Given the description of an element on the screen output the (x, y) to click on. 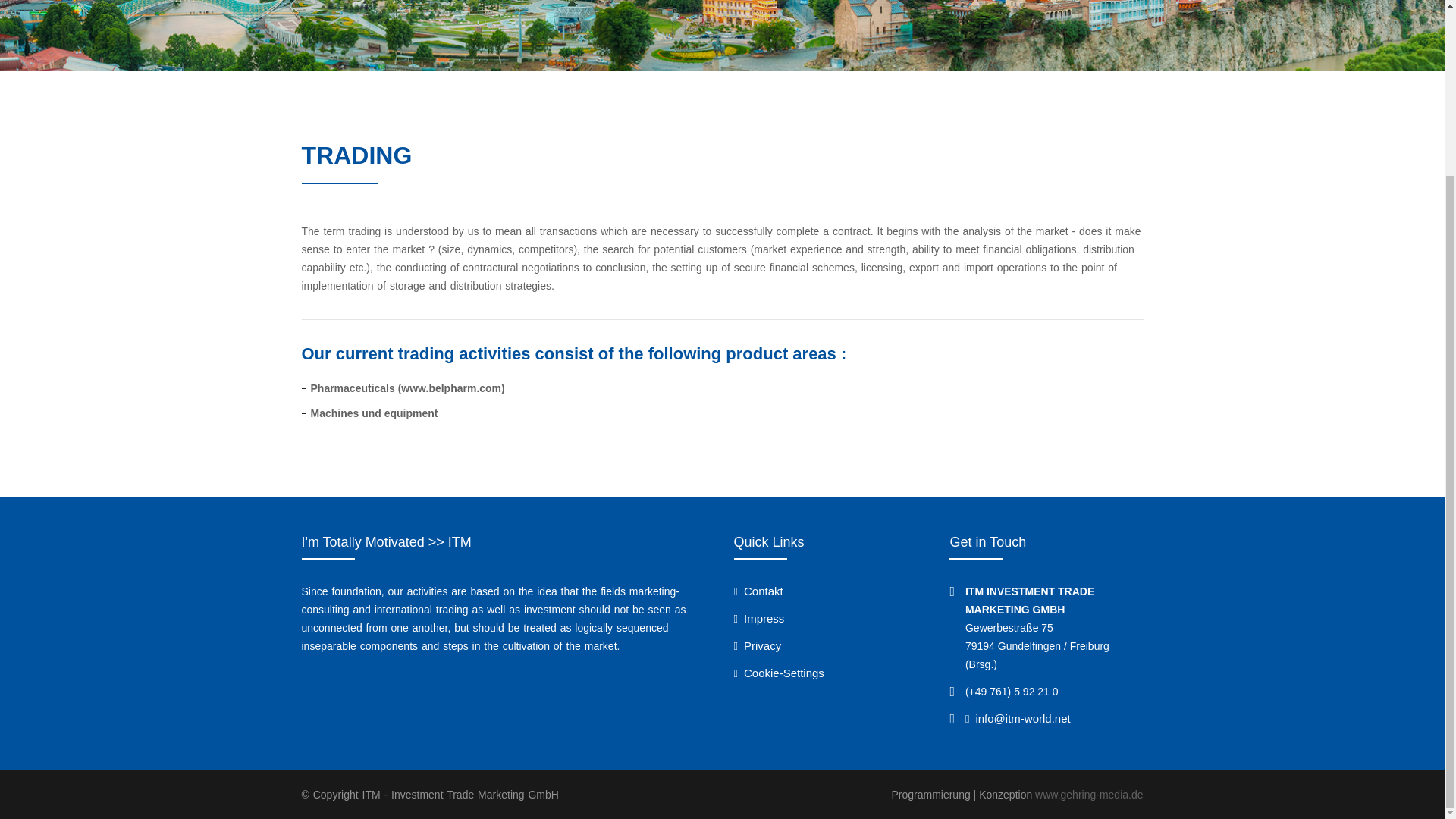
www.belpharm.com (450, 387)
Contakt (758, 590)
Cookie-Settings (778, 672)
www.gehring-media.de (1088, 794)
Impress (758, 617)
Privacy (757, 645)
